Given the description of an element on the screen output the (x, y) to click on. 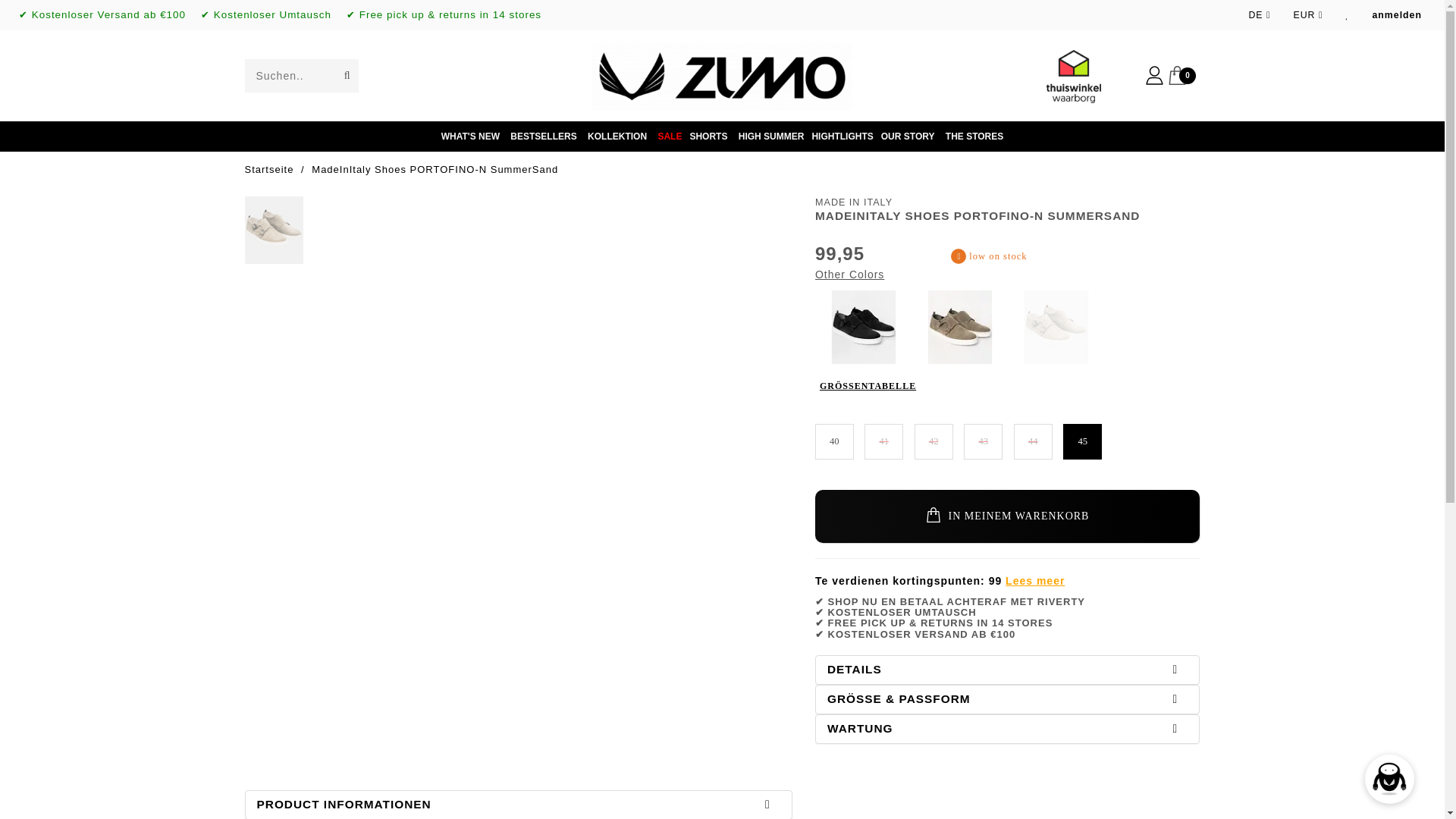
anmelden (1397, 14)
THE STORES (973, 136)
Our Story (907, 136)
0 (1183, 73)
EUR (1307, 15)
Startseite (269, 169)
